Given the description of an element on the screen output the (x, y) to click on. 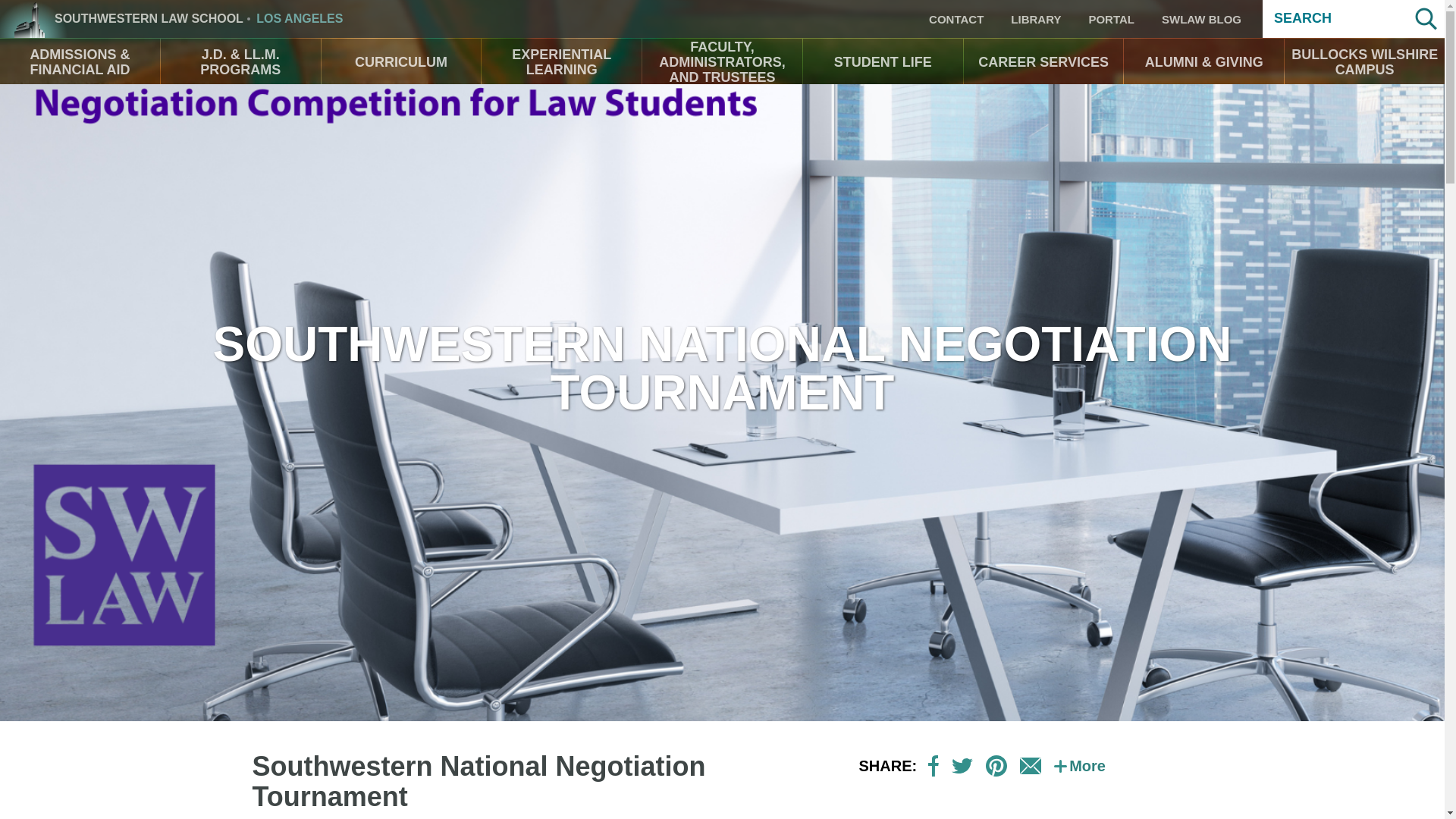
Ways to take your skills out into the world as a law student (561, 62)
The rich tapestry of student life at Southwestern (882, 62)
